Given the description of an element on the screen output the (x, y) to click on. 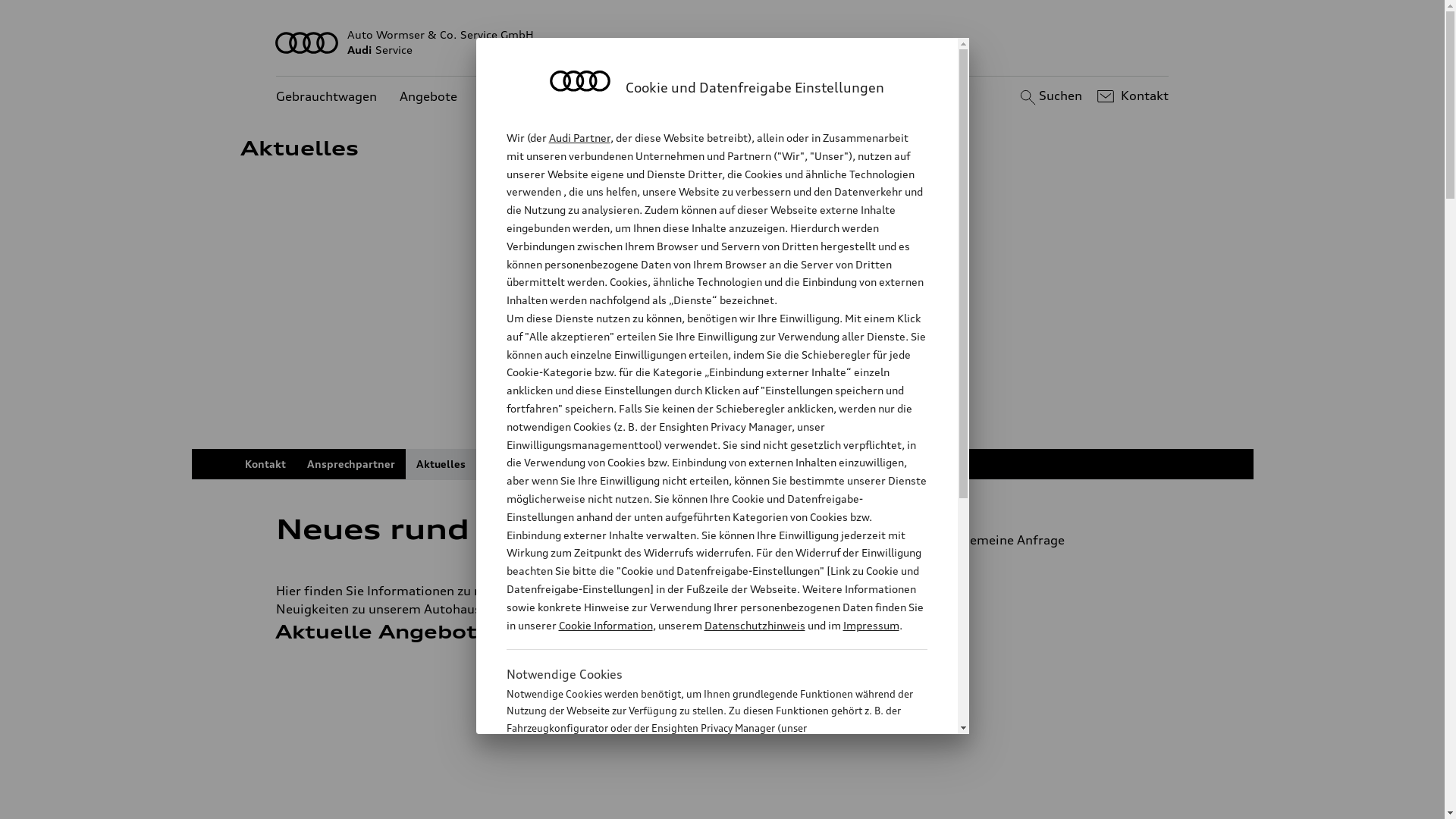
Gebrauchtwagen Element type: text (326, 96)
Allgemeine Anfrage Element type: text (1044, 539)
Kundenservice Element type: text (523, 96)
Auszeichnungen Element type: text (528, 463)
Cookie Information Element type: text (605, 624)
Veranstaltungen Element type: text (634, 463)
Karriere Element type: text (804, 463)
Kontakt Element type: text (1130, 96)
Datenschutzhinweis Element type: text (753, 624)
Kontakt Element type: text (264, 463)
Audi Partner Element type: text (579, 137)
Online Shop Element type: text (730, 463)
Aktuelles Element type: text (439, 463)
Suchen Element type: text (1049, 96)
Ansprechpartner Element type: text (349, 463)
Impressum Element type: text (871, 624)
Auto Wormser & Co. Service GmbH
AudiService Element type: text (722, 42)
Cookie Information Element type: text (700, 802)
Angebote Element type: text (428, 96)
